Given the description of an element on the screen output the (x, y) to click on. 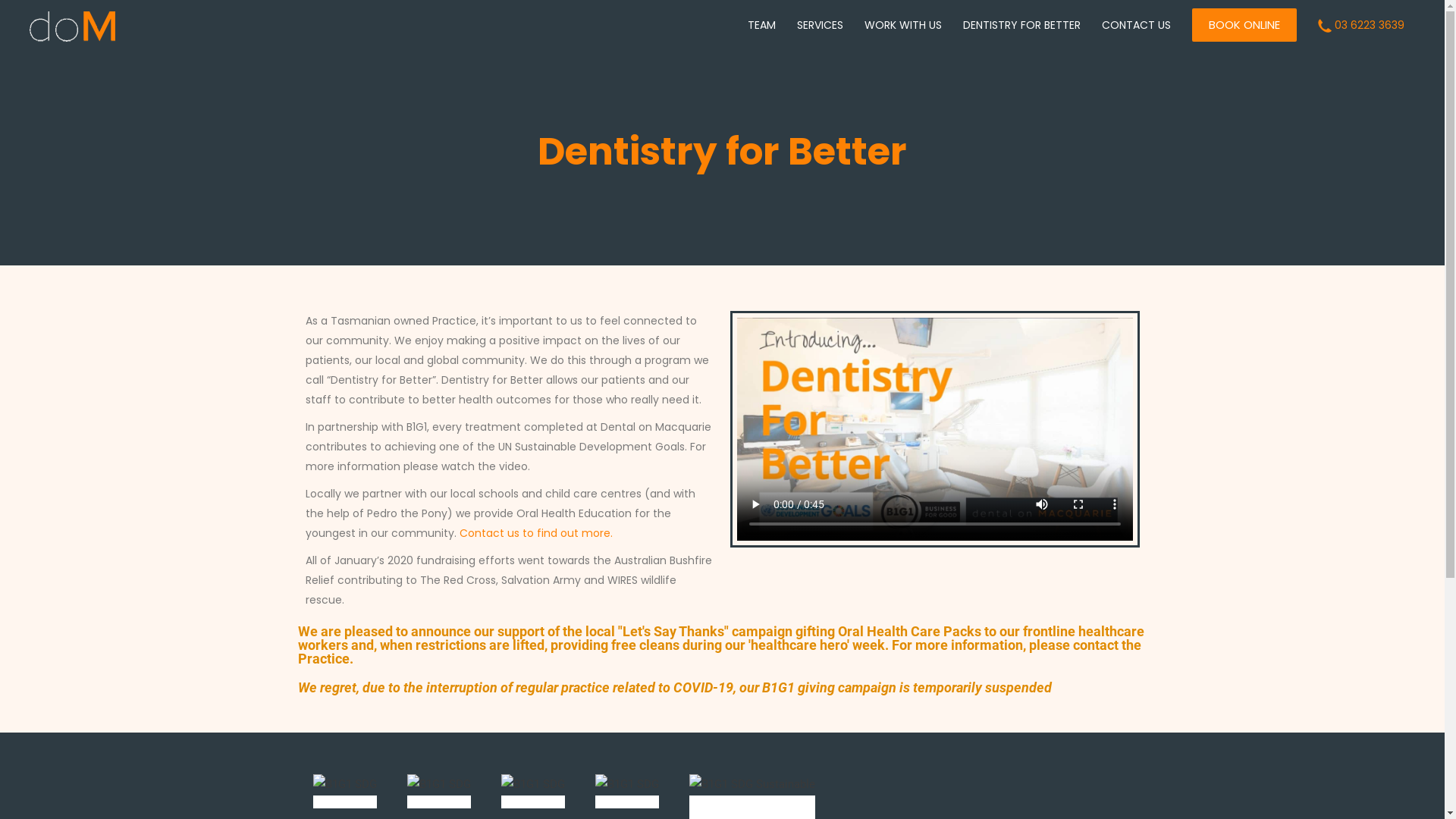
Contact us to find out more. Element type: text (535, 532)
TEAM Element type: text (761, 24)
03 6223 3639 Element type: text (1361, 24)
BOOK ONLINE Element type: text (1244, 24)
BOOK ONLINE Element type: text (1244, 24)
WORK WITH US Element type: text (902, 24)
CONTACT US Element type: text (1136, 24)
SERVICES Element type: text (819, 24)
DENTISTRY FOR BETTER Element type: text (1021, 24)
